Given the description of an element on the screen output the (x, y) to click on. 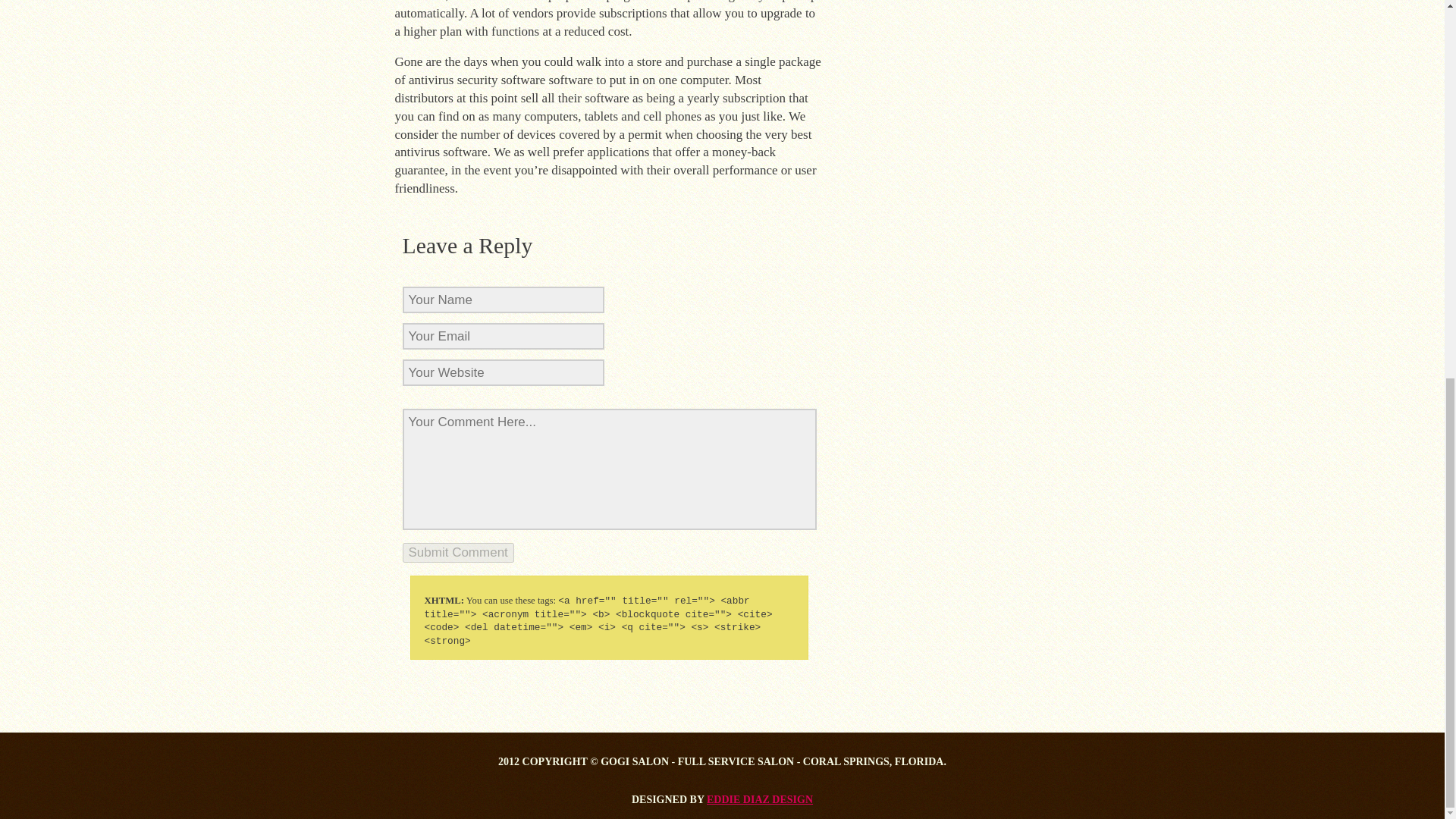
Submit Comment (457, 552)
EDDIE DIAZ DESIGN (759, 799)
Submit Comment (457, 552)
